Given the description of an element on the screen output the (x, y) to click on. 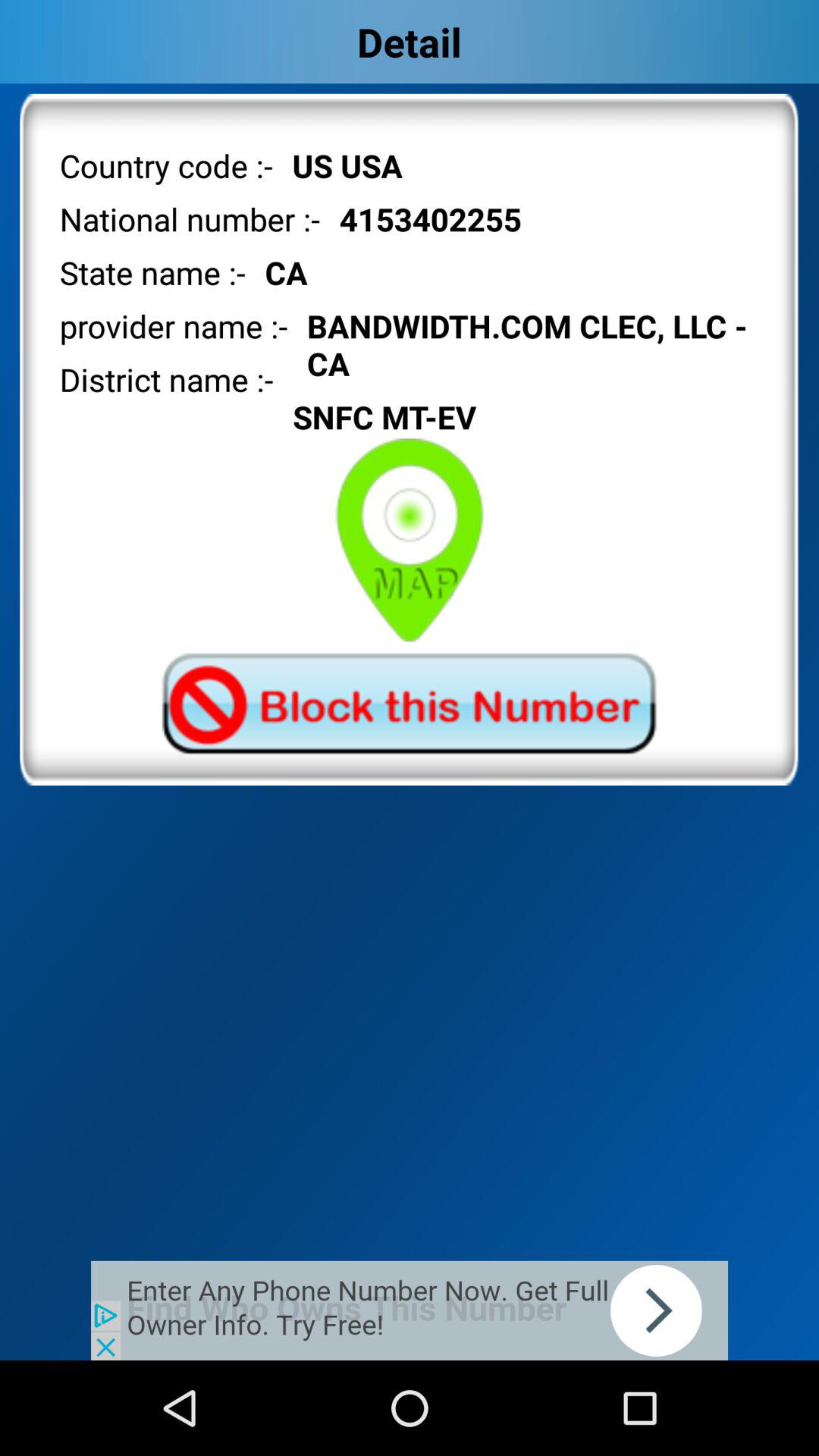
click on the location symbol (409, 540)
